Given the description of an element on the screen output the (x, y) to click on. 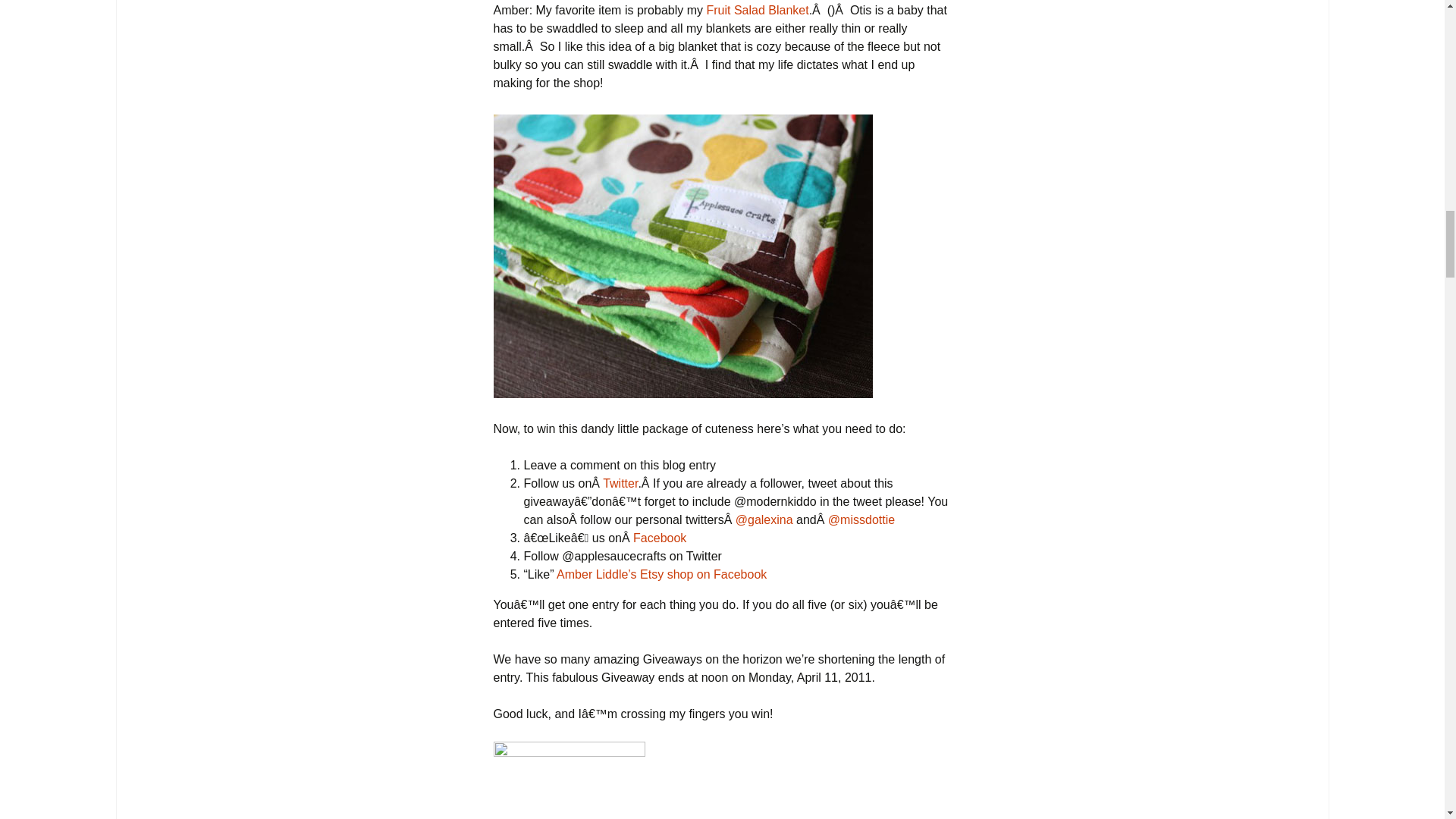
Twitter (619, 482)
Facebook (659, 537)
Fruit Salad Blanket (757, 10)
